Given the description of an element on the screen output the (x, y) to click on. 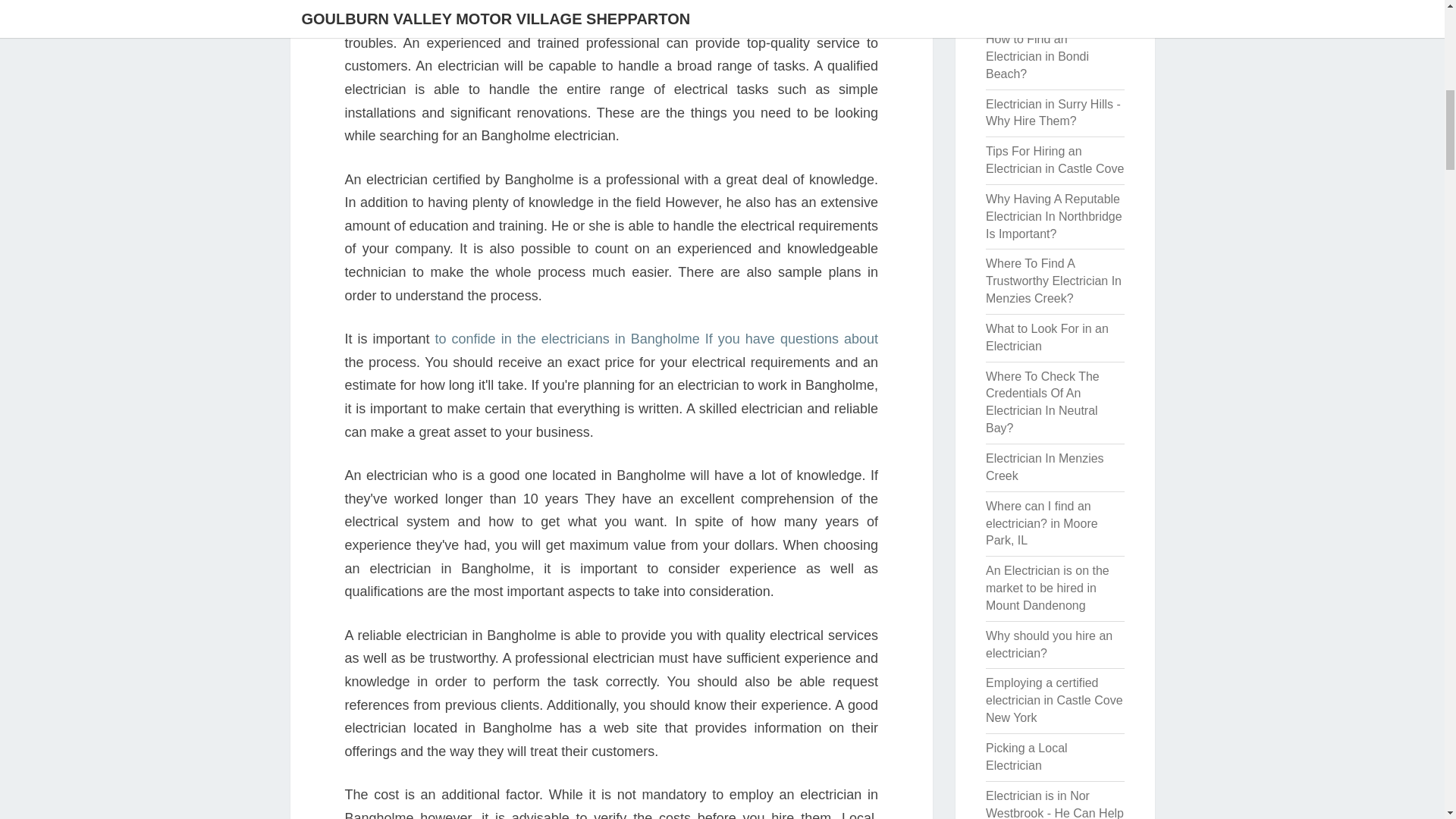
Electrician In Menzies Creek (1044, 467)
How to Find an Emergency Electrician in Baulkham Hills? (1052, 7)
Electrician in Surry Hills - Why Hire Them? (1053, 112)
Picking a Local Electrician (1026, 757)
Employing a certified electrician in Castle Cove New York (1053, 699)
Why should you hire an electrician? (1048, 644)
Electrician is in Nor Westbrook - He Can Help (1054, 804)
Where can I find an electrician? in Moore Park, IL (1041, 523)
What to Look For in an Electrician (1046, 337)
Tips For Hiring an Electrician in Castle Cove (1054, 159)
How to Find an Electrician in Bondi Beach? (1037, 56)
Where To Find A Trustworthy Electrician In Menzies Creek? (1053, 280)
